Given the description of an element on the screen output the (x, y) to click on. 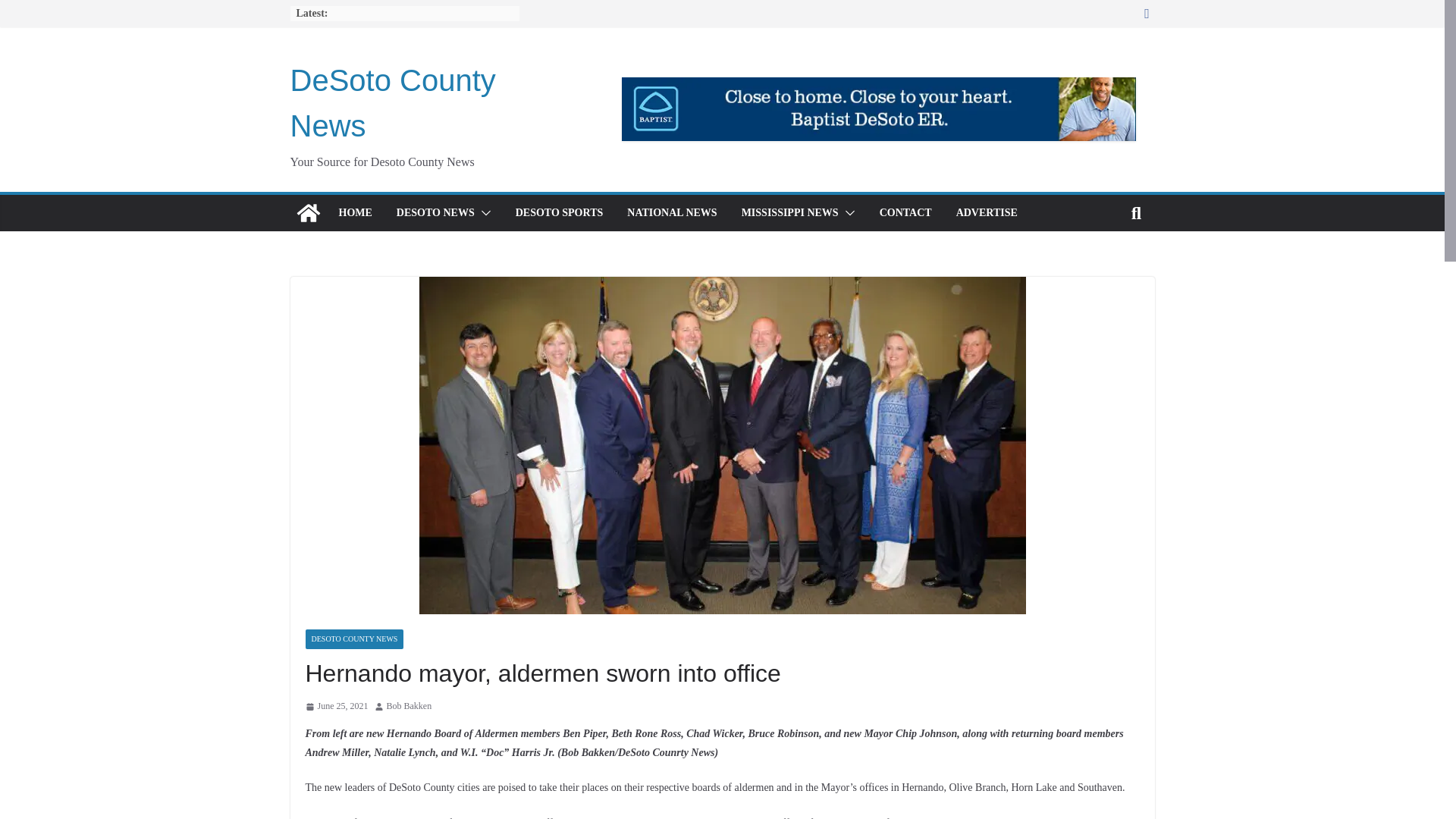
CONTACT (905, 212)
ADVERTISE (986, 212)
Bob Bakken (409, 706)
DeSoto County News (392, 102)
DESOTO COUNTY NEWS (353, 639)
DESOTO NEWS (435, 212)
7:56 pm (336, 706)
NATIONAL NEWS (671, 212)
DeSoto County News (392, 102)
DeSoto County News (307, 212)
